Given the description of an element on the screen output the (x, y) to click on. 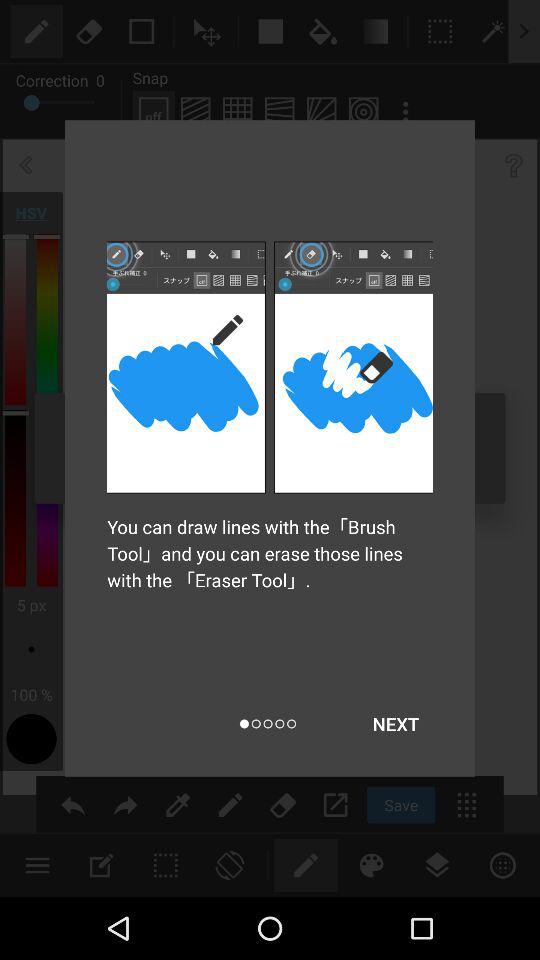
click the item below you can draw (395, 723)
